Given the description of an element on the screen output the (x, y) to click on. 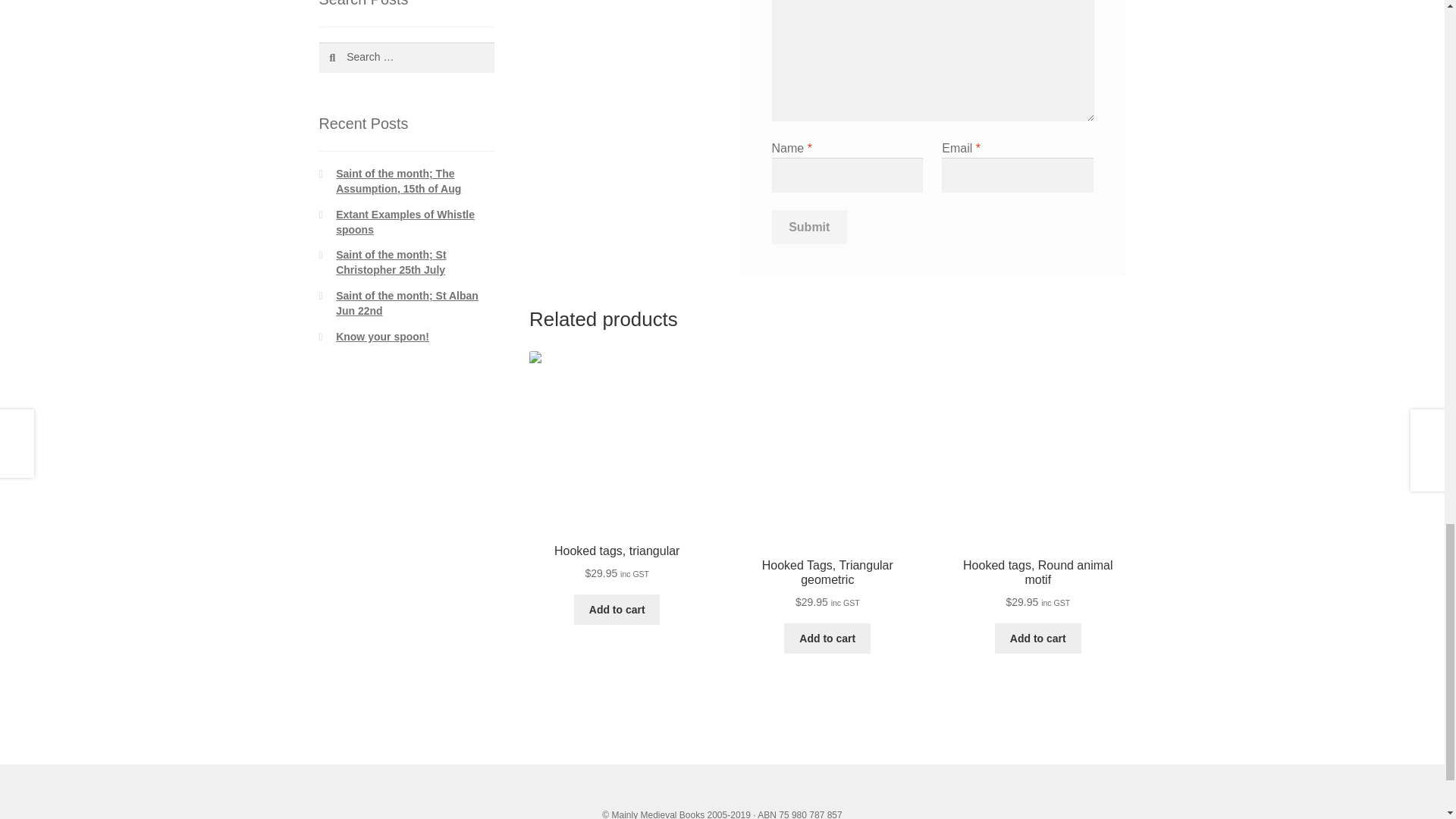
Submit (809, 226)
